Given the description of an element on the screen output the (x, y) to click on. 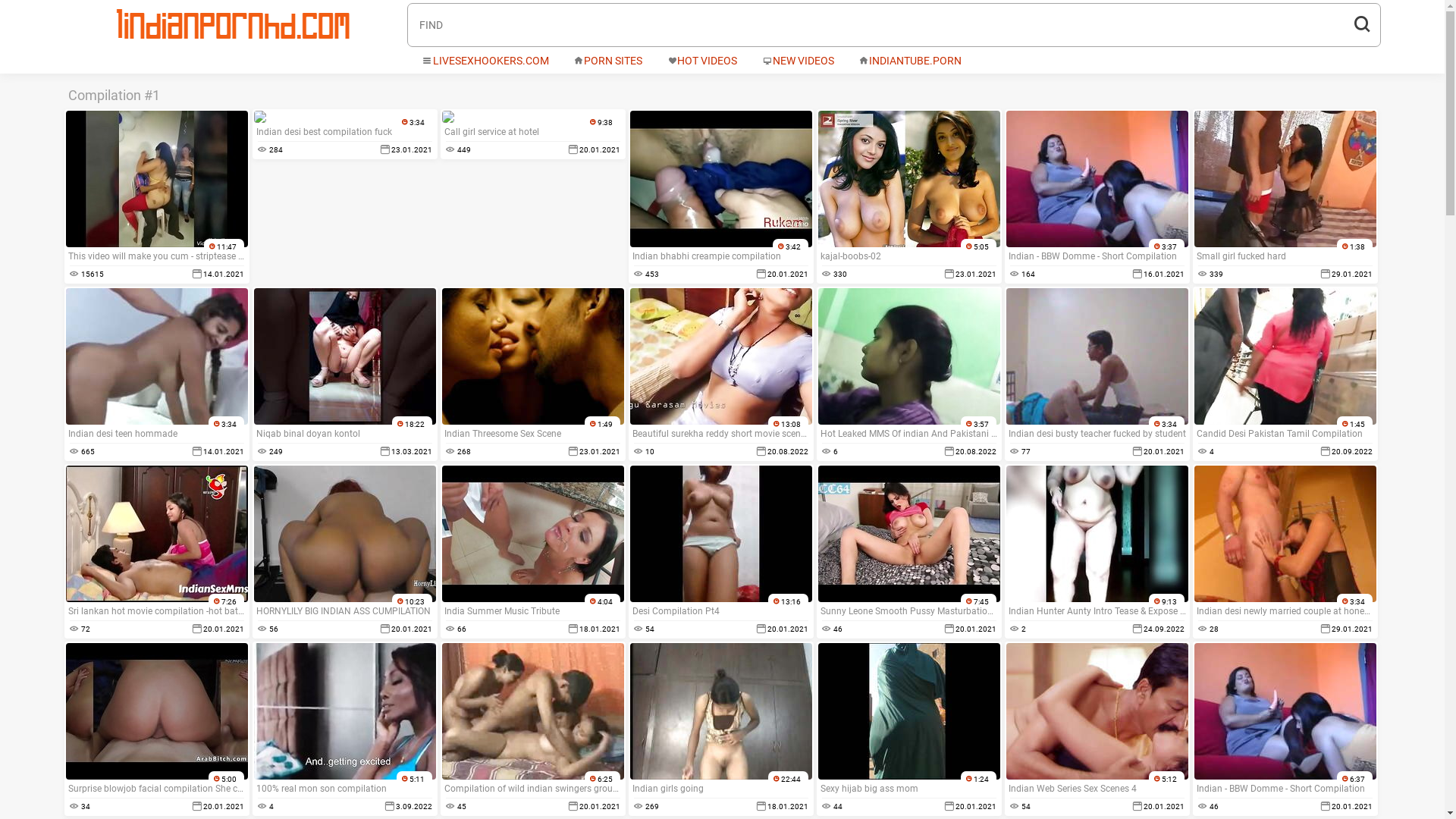
LIVESEXHOOKERS.COM Element type: text (484, 61)
10:23
HORNYLILY BIG INDIAN ASS CUMPILATION
56
20.01.2021 Element type: text (344, 551)
18:22
Niqab binal doyan kontol
249
13.03.2021 Element type: text (344, 373)
1:24
Sexy hijab big ass mom
44
20.01.2021 Element type: text (908, 728)
5:05
kajal-boobs-02
330
23.01.2021 Element type: text (908, 196)
3:37
Indian - BBW Domme - Short Compilation
164
16.01.2021 Element type: text (1096, 196)
3:42
Indian bhabhi creampie compilation
453
20.01.2021 Element type: text (720, 196)
9:38
Call girl service at hotel
449
20.01.2021 Element type: text (532, 133)
5:11
100% real mon son compilation
4
3.09.2022 Element type: text (344, 728)
22:44
Indian girls going
269
18.01.2021 Element type: text (720, 728)
13:16
Desi Compilation Pt4
54
20.01.2021 Element type: text (720, 551)
NEW VIDEOS Element type: text (798, 61)
5:12
Indian Web Series Sex Scenes 4
54
20.01.2021 Element type: text (1096, 728)
4:04
India Summer Music Tribute
66
18.01.2021 Element type: text (532, 551)
1:49
Indian Threesome Sex Scene
268
23.01.2021 Element type: text (532, 373)
6:37
Indian - BBW Domme - Short Compilation
46
20.01.2021 Element type: text (1284, 728)
HOT VIDEOS Element type: text (701, 61)
PORN SITES Element type: text (608, 61)
1:45
Candid Desi Pakistan Tamil Compilation
4
20.09.2022 Element type: text (1284, 373)
1:38
Small girl fucked hard
339
29.01.2021 Element type: text (1284, 196)
3:34
Indian desi best compilation fuck
284
23.01.2021 Element type: text (344, 133)
INDIANTUBE.PORN Element type: text (910, 61)
3:34
Indian desi teen hommade
665
14.01.2021 Element type: text (156, 373)
